Given the description of an element on the screen output the (x, y) to click on. 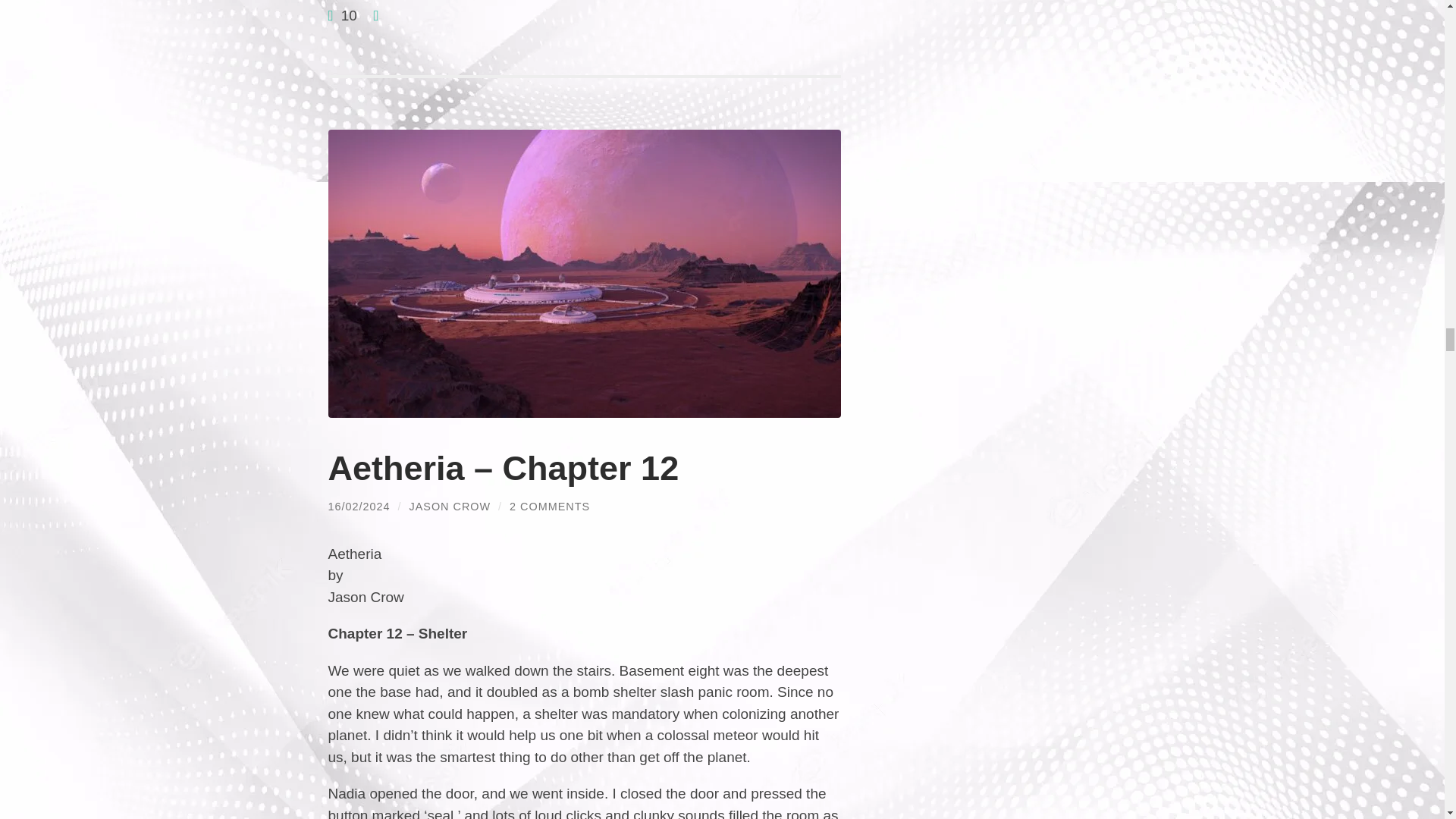
Posts by Jason Crow (450, 506)
